Given the description of an element on the screen output the (x, y) to click on. 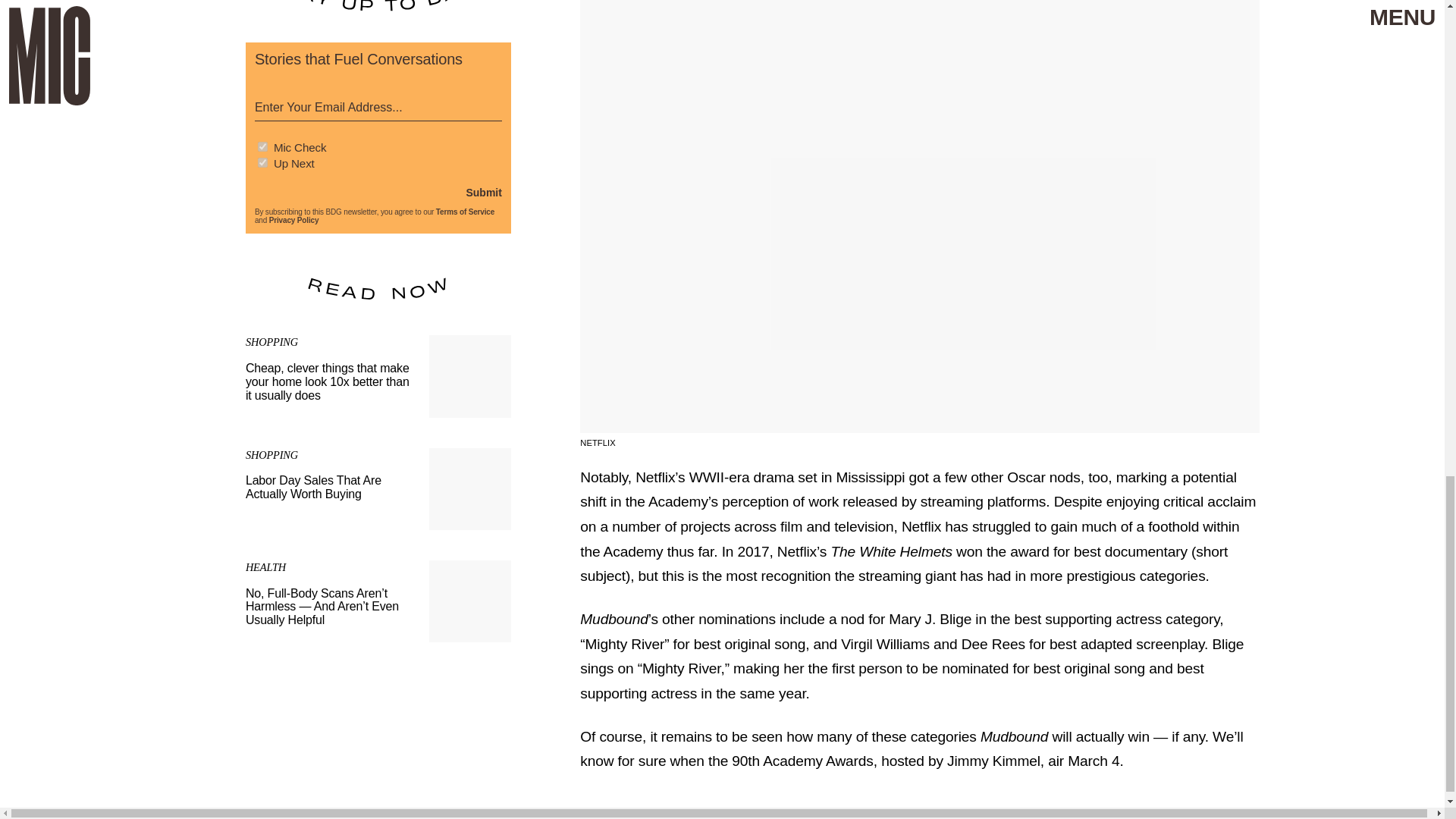
Terms of Service (465, 212)
Submit (482, 191)
Privacy Policy (378, 488)
